Given the description of an element on the screen output the (x, y) to click on. 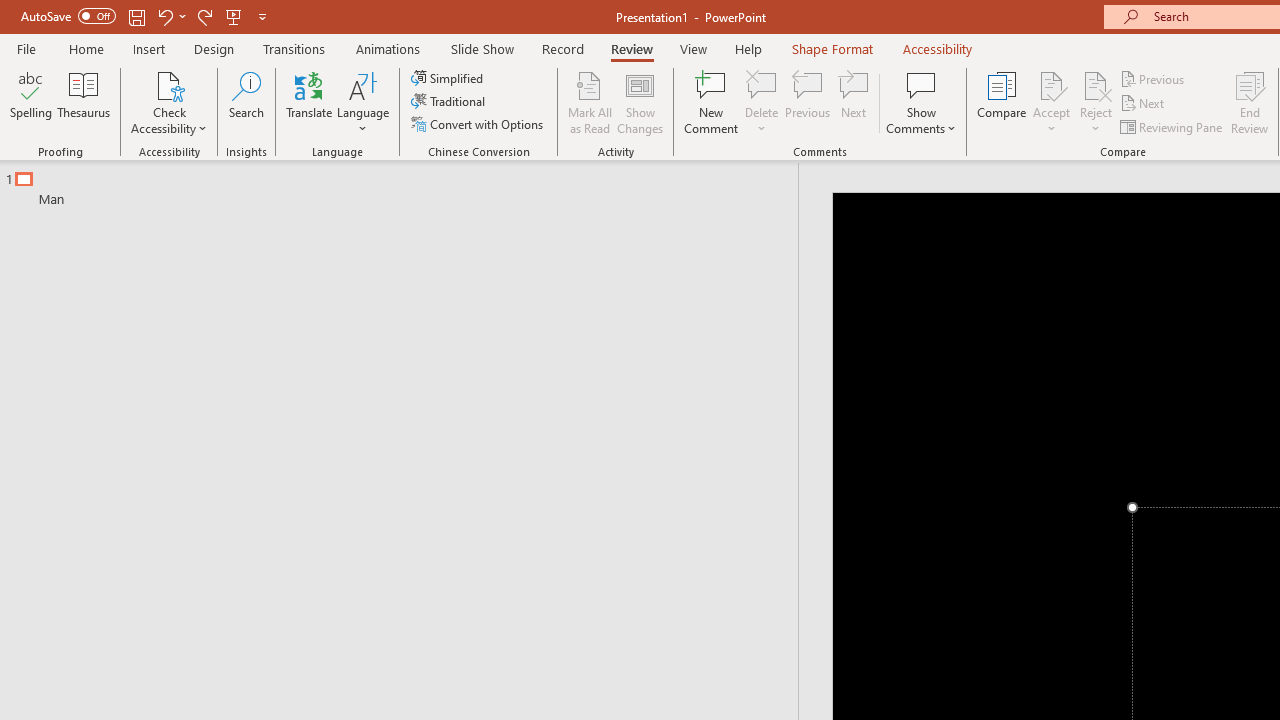
Spelling... (31, 102)
Traditional (449, 101)
Translate (309, 102)
Simplified (449, 78)
